Given the description of an element on the screen output the (x, y) to click on. 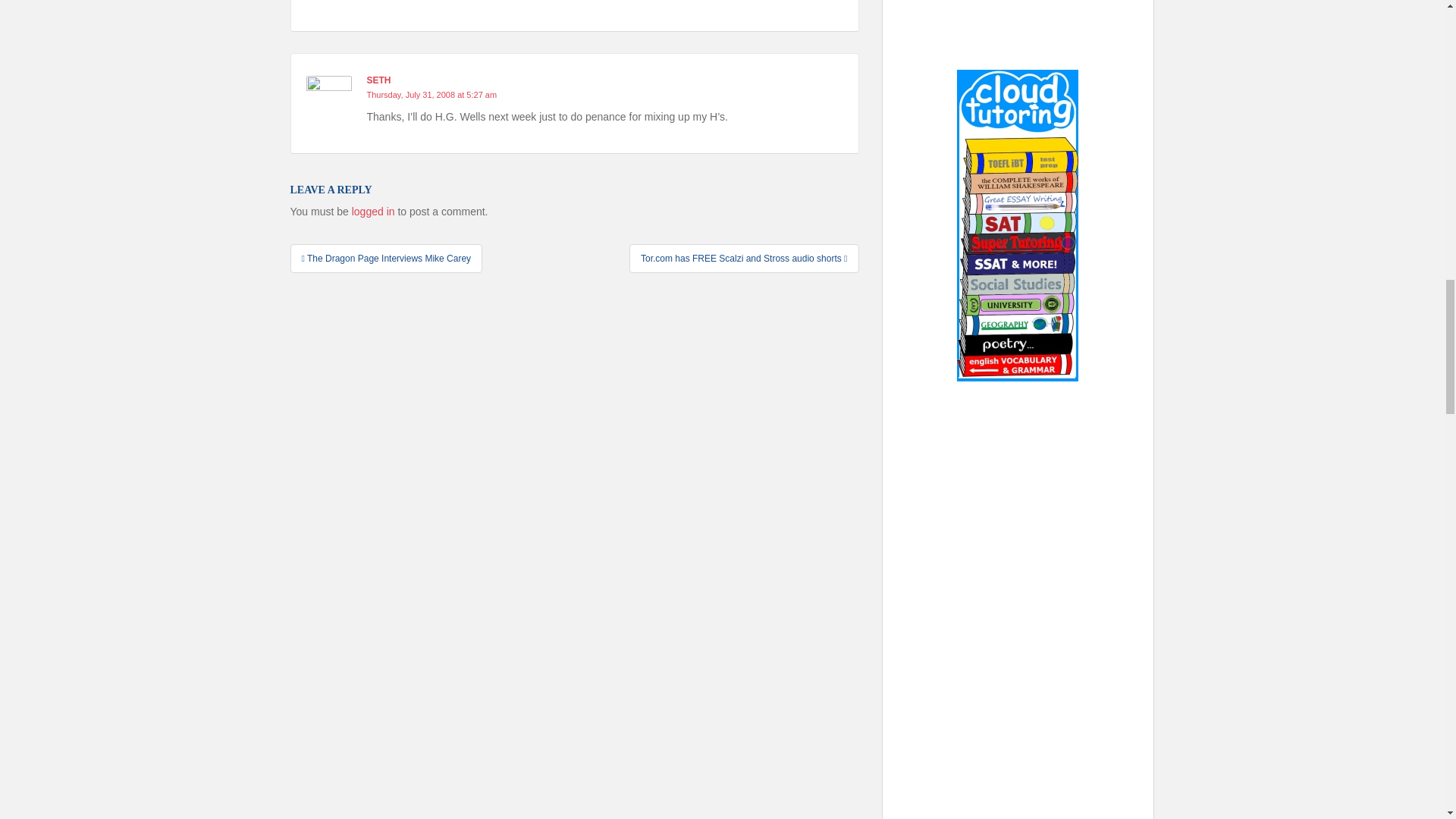
Advertisement (1018, 604)
